Given the description of an element on the screen output the (x, y) to click on. 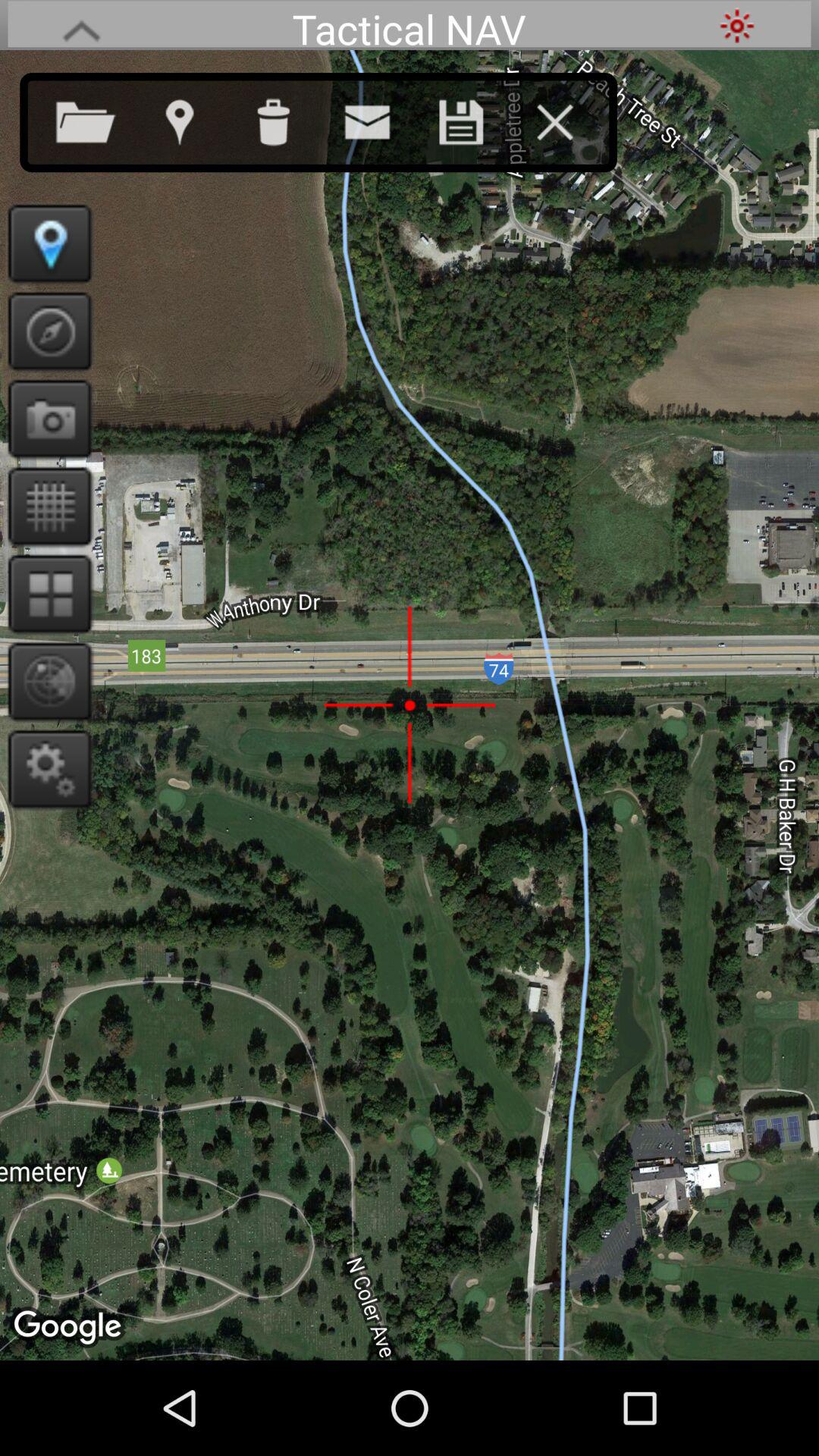
save location (476, 119)
